Given the description of an element on the screen output the (x, y) to click on. 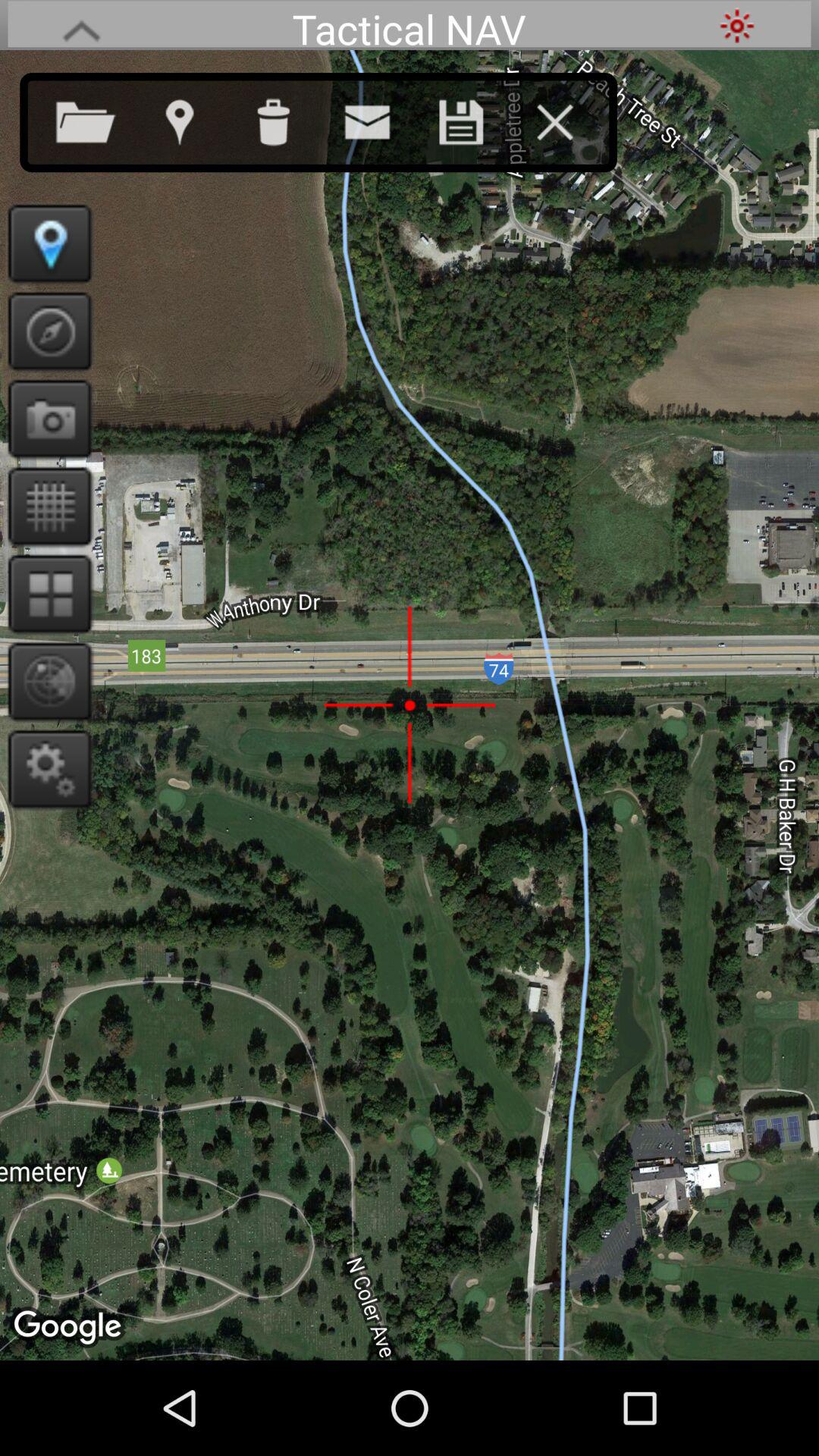
save location (476, 119)
